Given the description of an element on the screen output the (x, y) to click on. 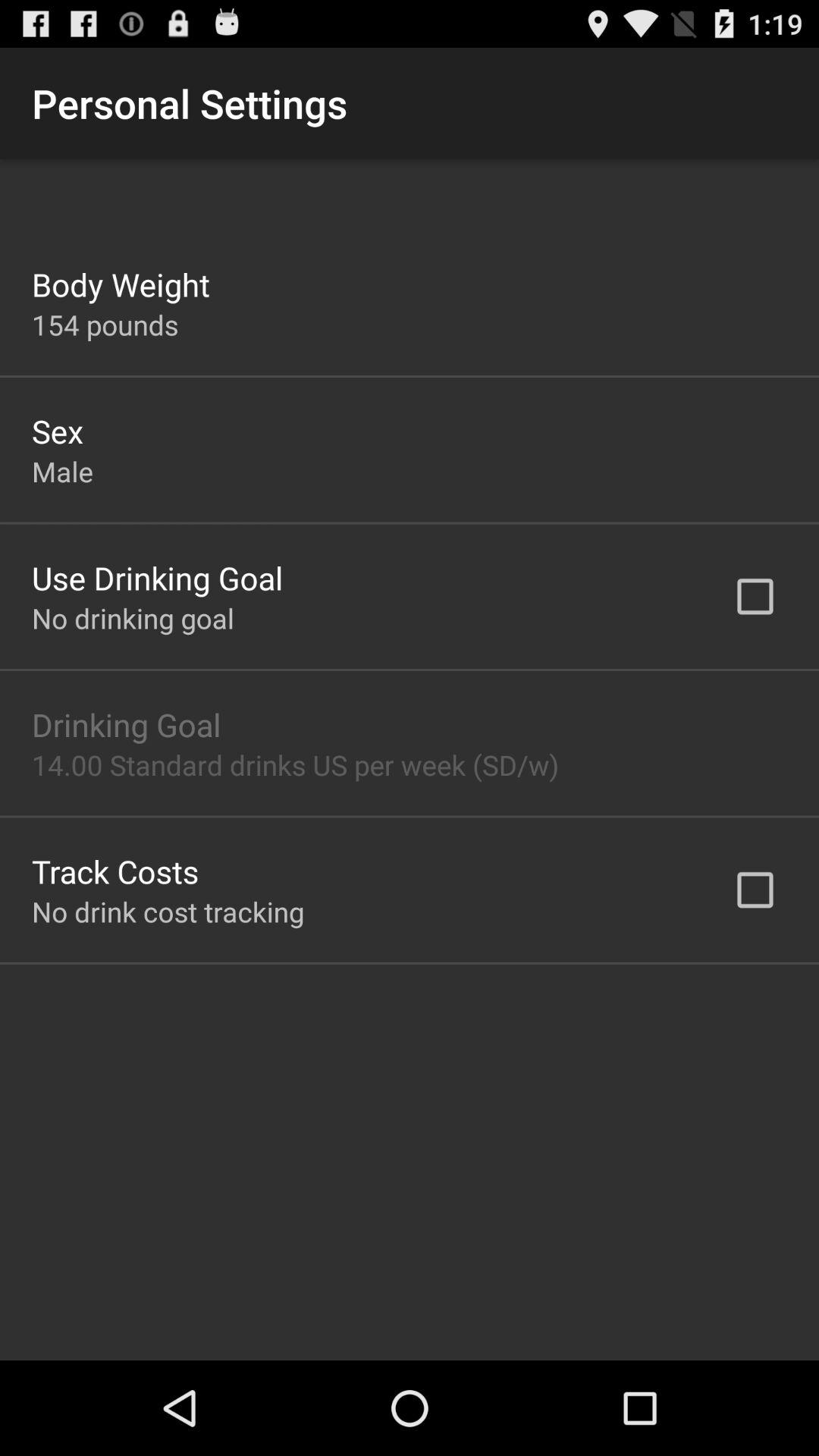
turn off no drink cost item (167, 911)
